Given the description of an element on the screen output the (x, y) to click on. 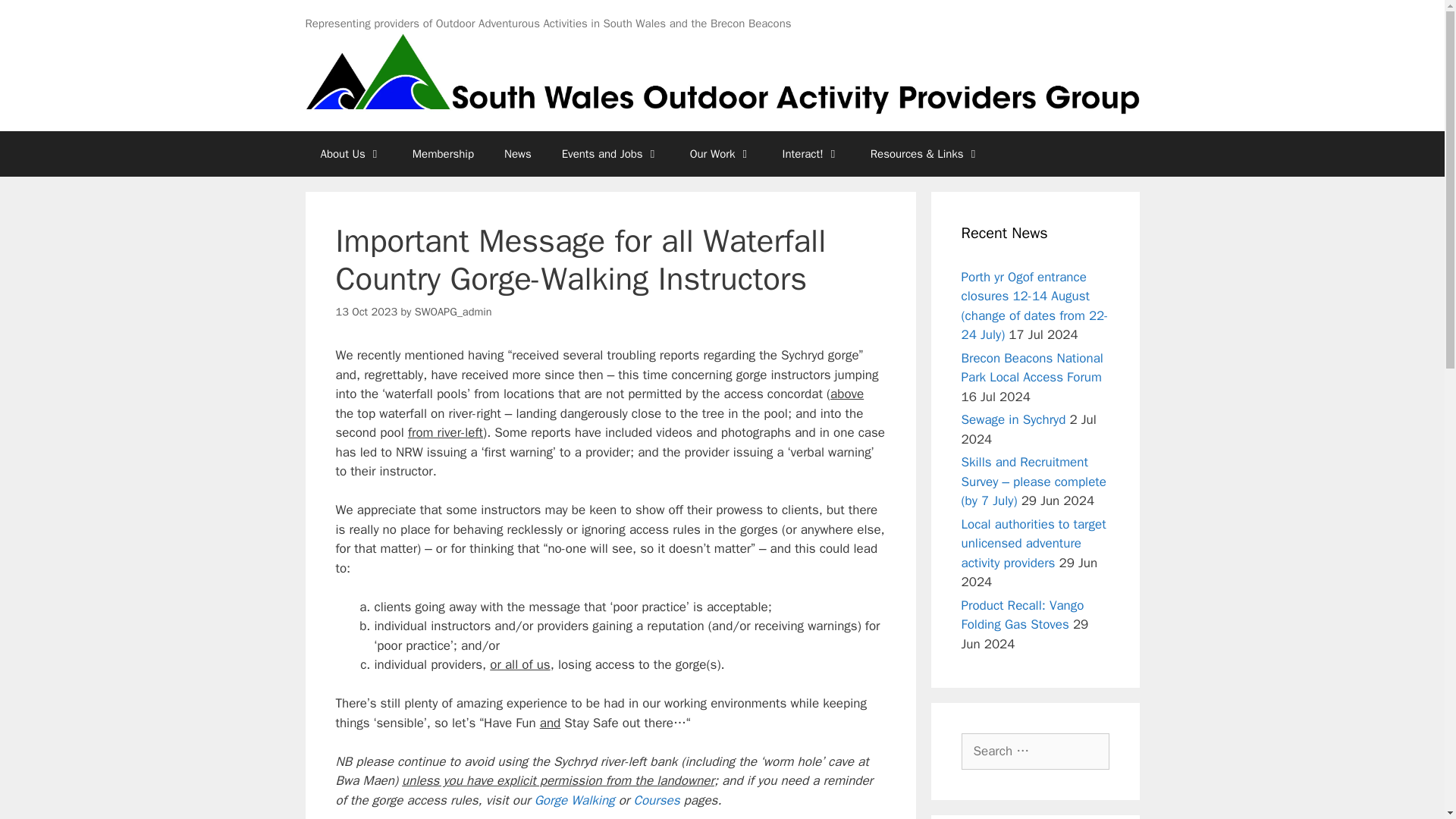
Gorge Walking (574, 800)
Membership (443, 153)
Search for: (1034, 751)
News (518, 153)
Our Work (721, 153)
Courses (656, 800)
About Us (350, 153)
Interact! (811, 153)
Events and Jobs (611, 153)
